Given the description of an element on the screen output the (x, y) to click on. 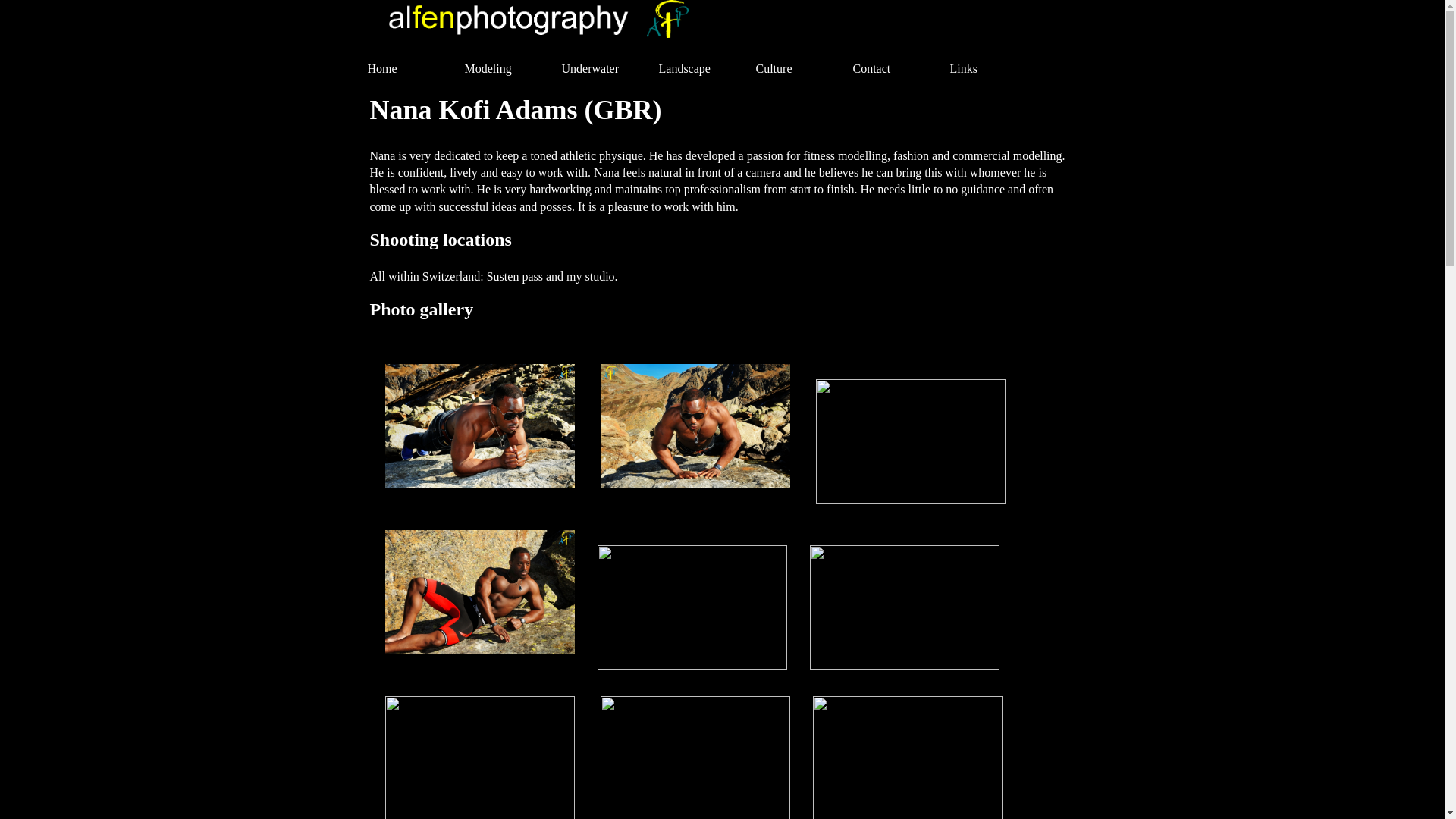
Home Element type: text (406, 68)
Landscape Element type: text (697, 68)
Culture Element type: text (794, 68)
Underwater Element type: text (600, 68)
Links Element type: text (988, 68)
Modeling Element type: text (503, 68)
Contact Element type: text (891, 68)
